Given the description of an element on the screen output the (x, y) to click on. 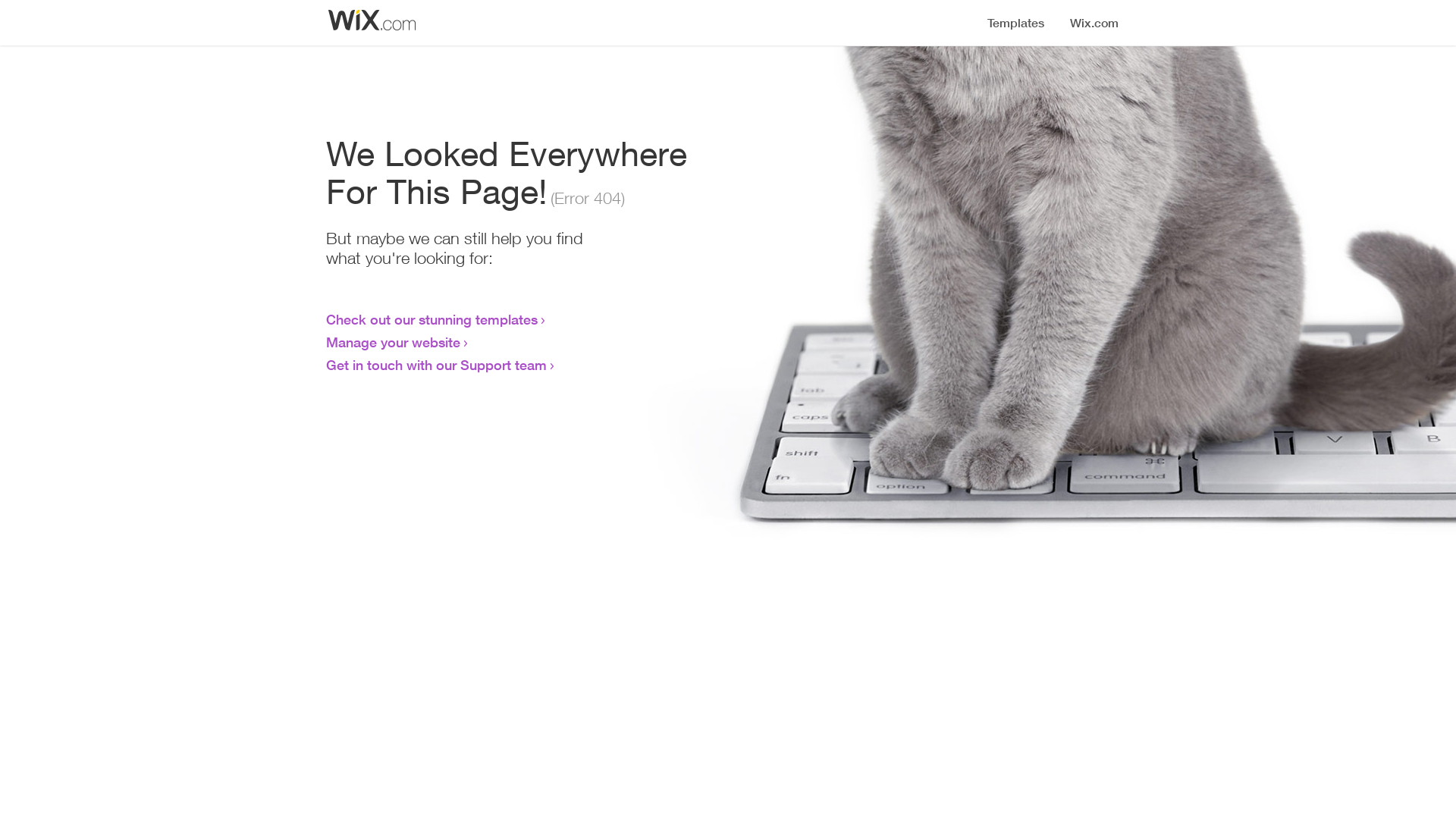
Get in touch with our Support team Element type: text (436, 364)
Check out our stunning templates Element type: text (431, 318)
Manage your website Element type: text (393, 341)
